Given the description of an element on the screen output the (x, y) to click on. 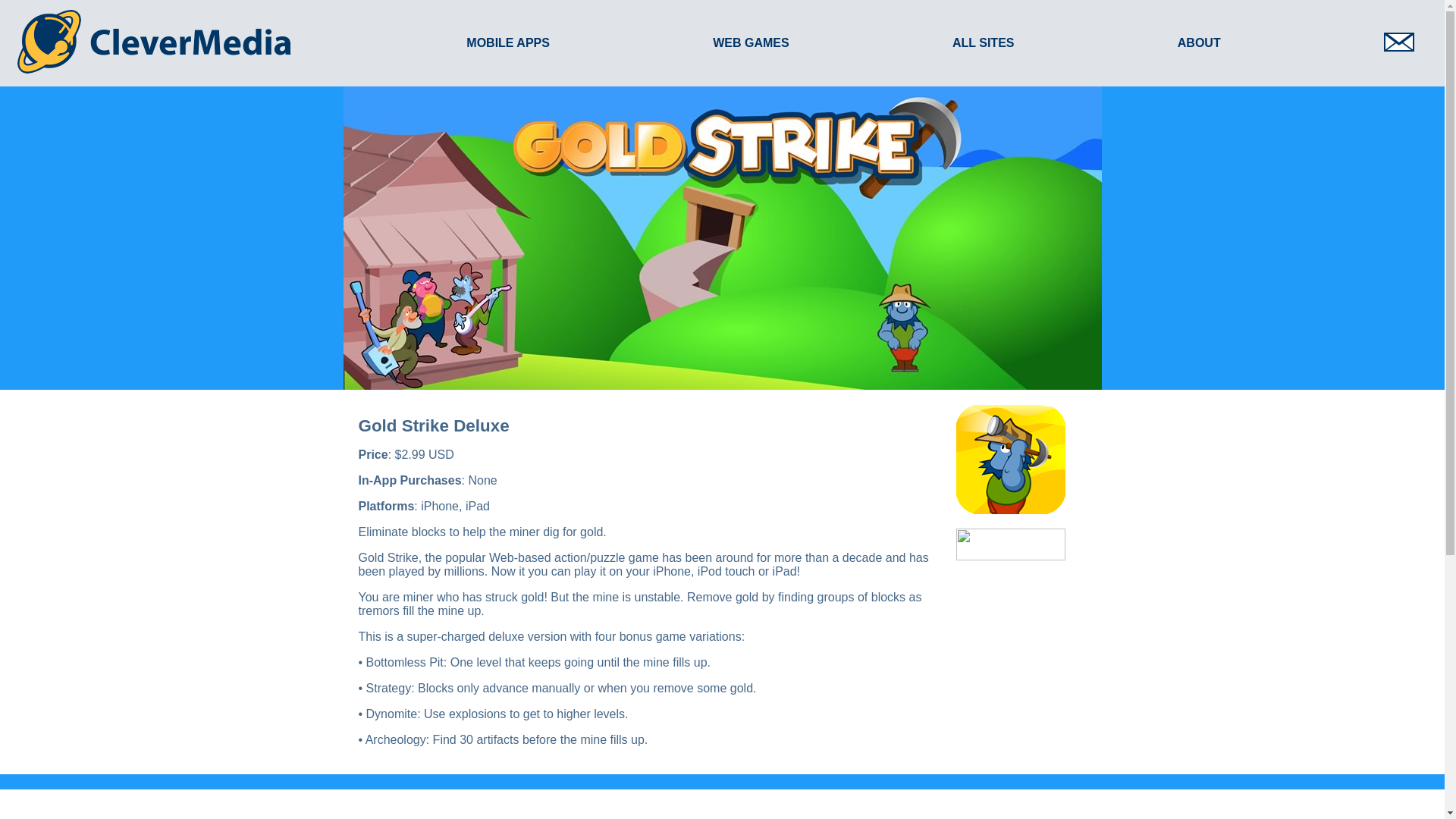
ALL SITES (983, 42)
WEB GAMES (751, 42)
MOBILE APPS (507, 42)
ABOUT (1199, 42)
